Given the description of an element on the screen output the (x, y) to click on. 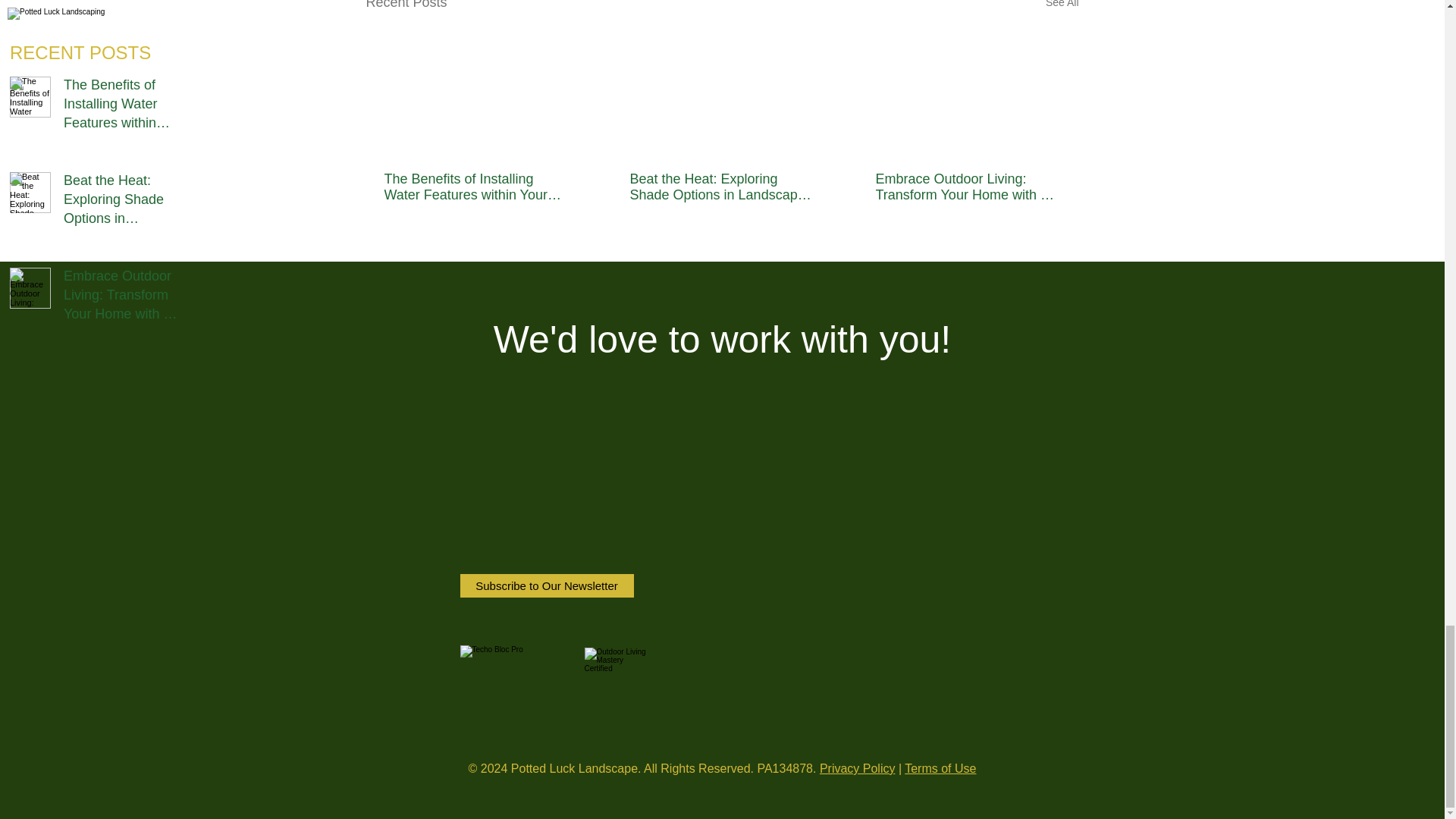
Privacy Policy (857, 768)
See All (1061, 6)
Screenshot 2023-03-10 at 10.28.16 AM.png (614, 679)
Beat the Heat: Exploring Shade Options in Landscape Design. (720, 187)
Terms of Use (939, 768)
Subscribe to Our Newsletter (546, 585)
